Given the description of an element on the screen output the (x, y) to click on. 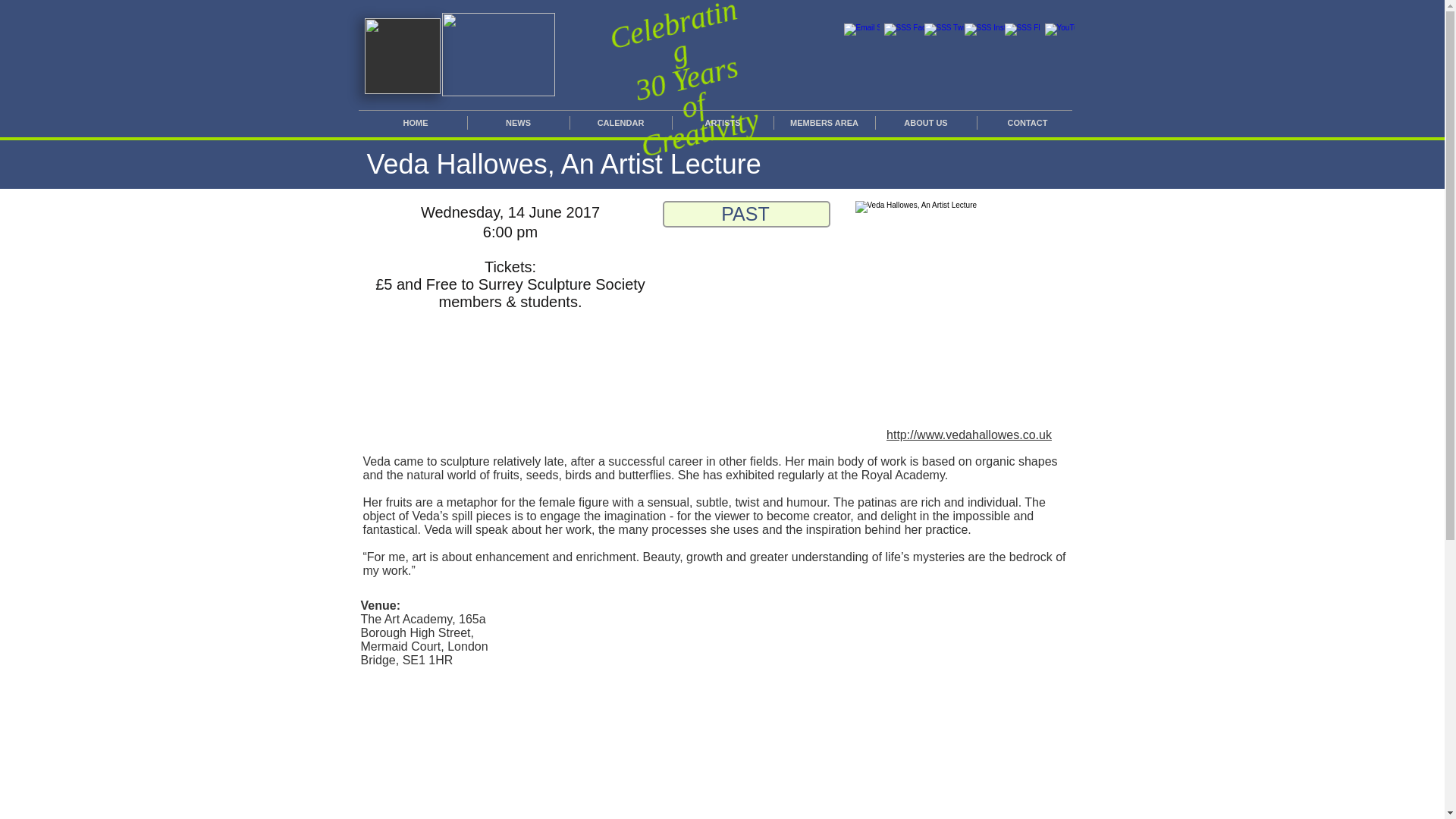
Veda Hallowes, An Artist Lecture (969, 314)
CALENDAR (620, 122)
CONTACT (1026, 122)
MEMBERS AREA (824, 122)
HOME (414, 122)
ARTISTS (722, 122)
NEWS (518, 122)
ABOUT US (925, 122)
